Given the description of an element on the screen output the (x, y) to click on. 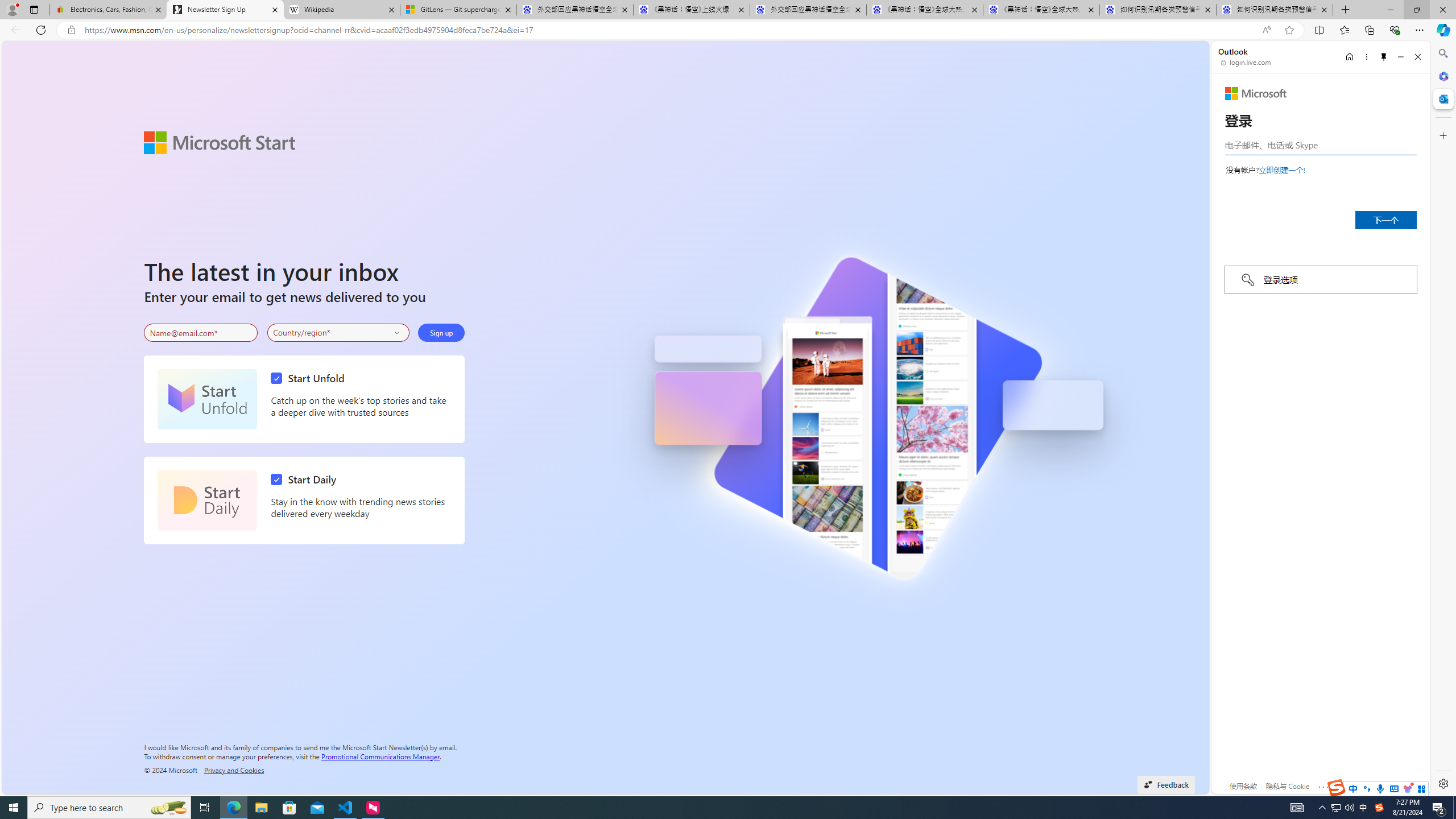
Select your country (338, 332)
Sign up (441, 332)
Promotional Communications Manager (380, 755)
